Given the description of an element on the screen output the (x, y) to click on. 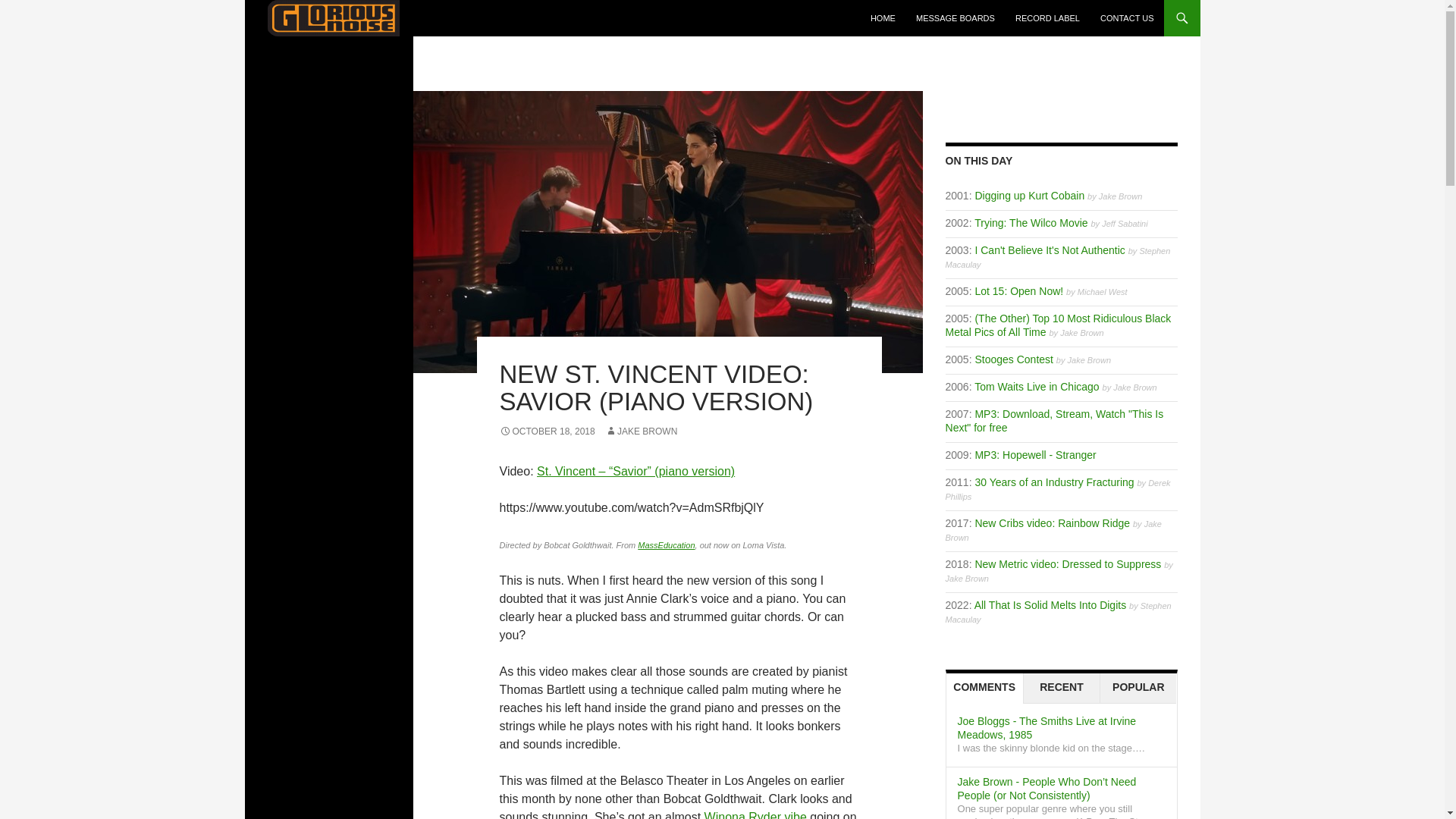
CONTACT US (1126, 18)
OCTOBER 18, 2018 (546, 430)
HOME (882, 18)
RECORD LABEL (1047, 18)
Winona Ryder vibe (755, 814)
MESSAGE BOARDS (955, 18)
JAKE BROWN (641, 430)
MassEducation (665, 544)
Glorious Noise (315, 54)
